Given the description of an element on the screen output the (x, y) to click on. 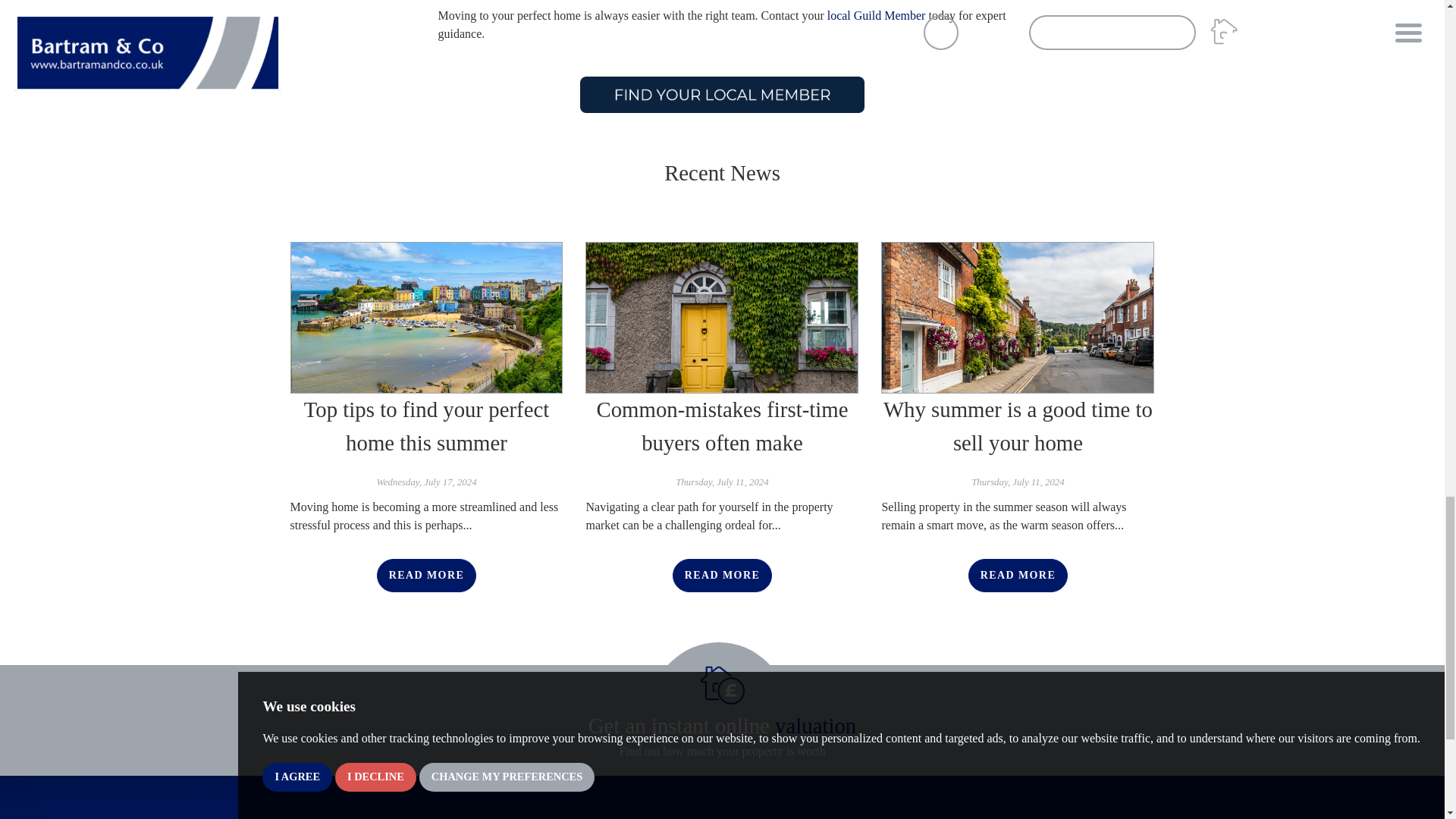
local Guild Member (876, 15)
READ MORE (426, 574)
READ MORE (1017, 574)
READ MORE (721, 574)
